Given the description of an element on the screen output the (x, y) to click on. 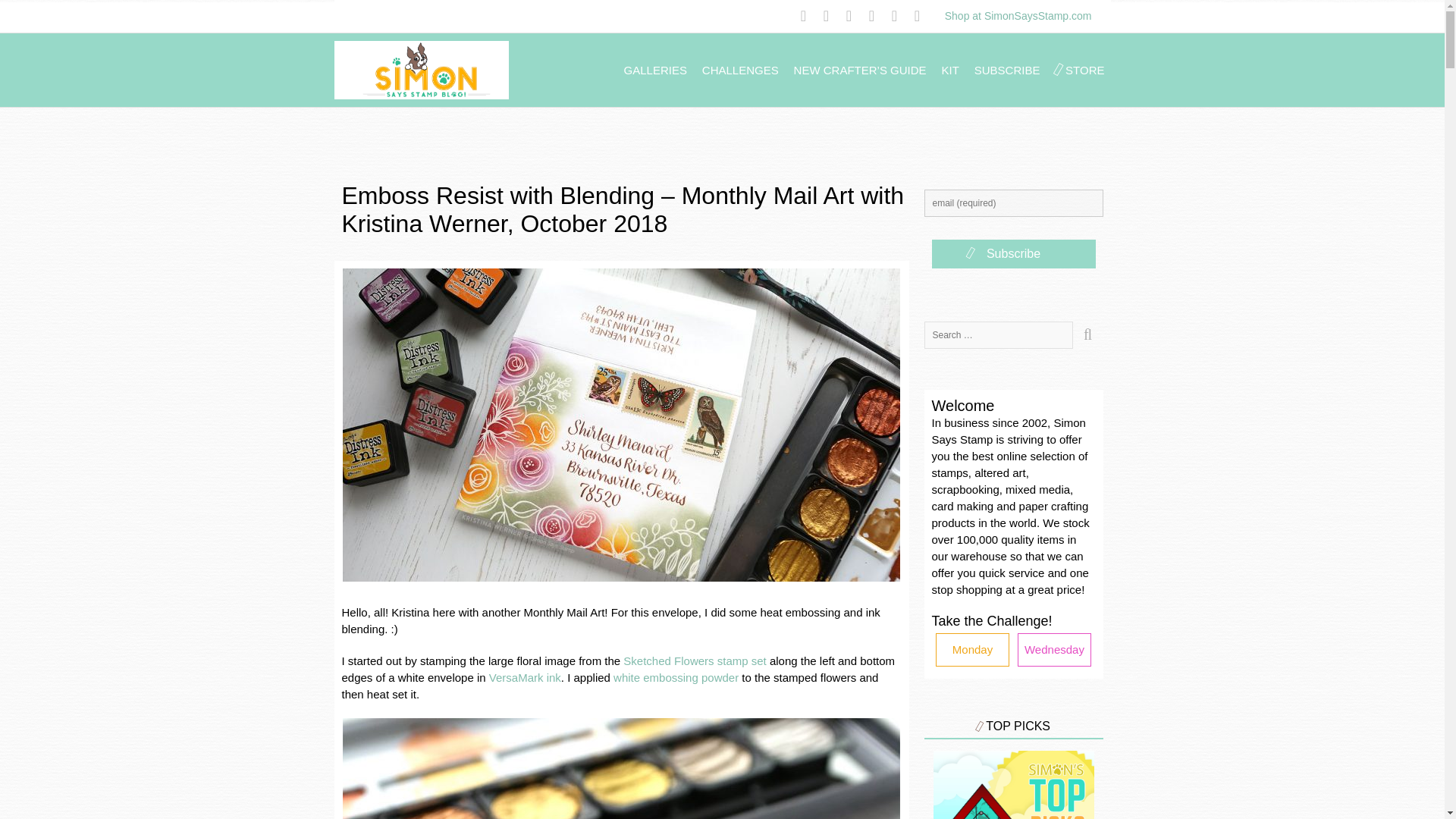
SUBSCRIBE (1007, 69)
Sketched Flowers stamp set (694, 660)
VersaMark ink (524, 676)
Subscribe (1012, 253)
Shop at SimonSaysStamp.com (1018, 15)
white embossing powder (675, 676)
CHALLENGES (739, 69)
STORE (1084, 69)
Search (1086, 334)
GALLERIES (655, 69)
